Given the description of an element on the screen output the (x, y) to click on. 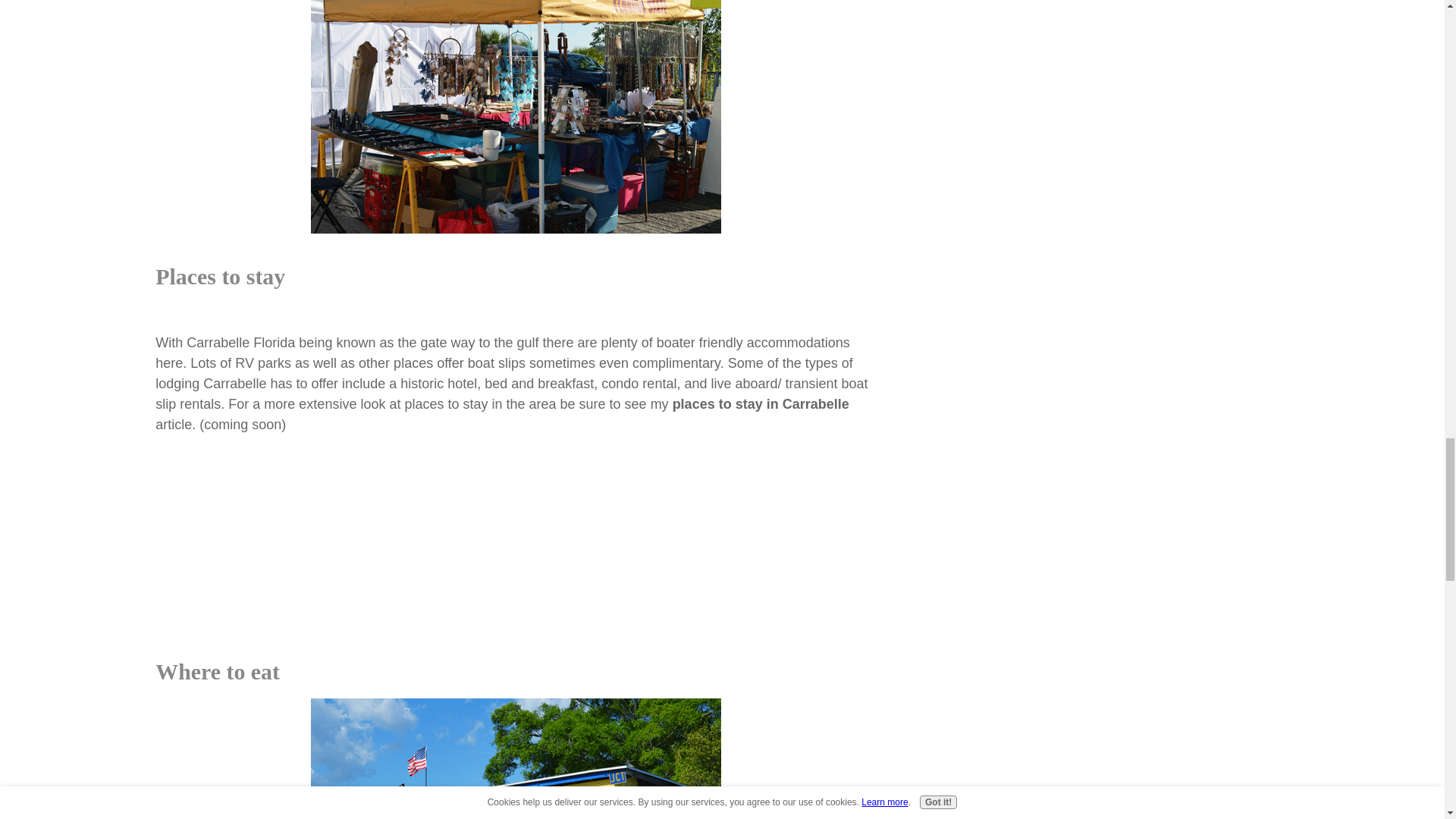
Advertisement (515, 558)
